Given the description of an element on the screen output the (x, y) to click on. 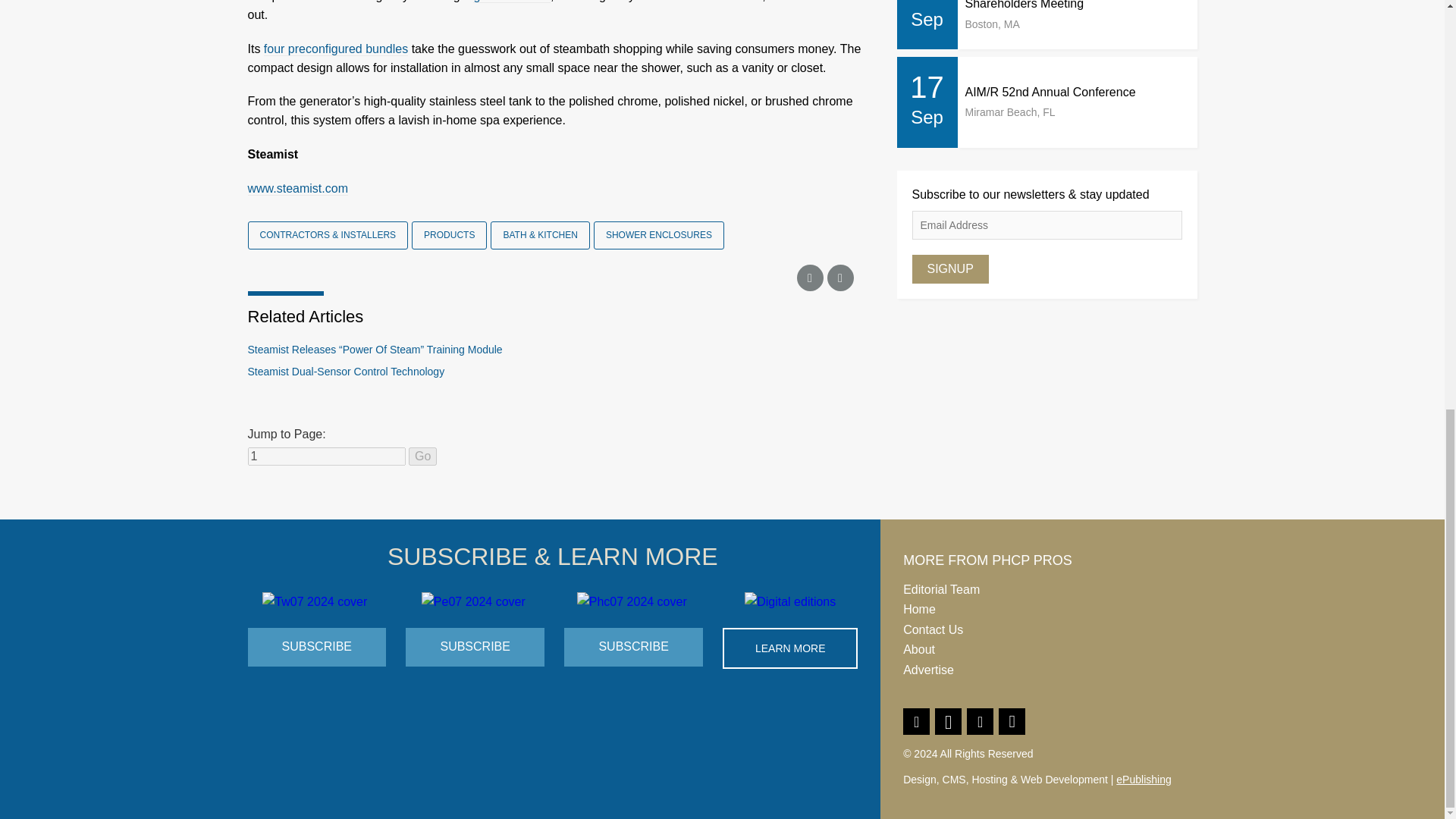
1 (325, 456)
Go (422, 456)
SIGNUP (949, 268)
